Given the description of an element on the screen output the (x, y) to click on. 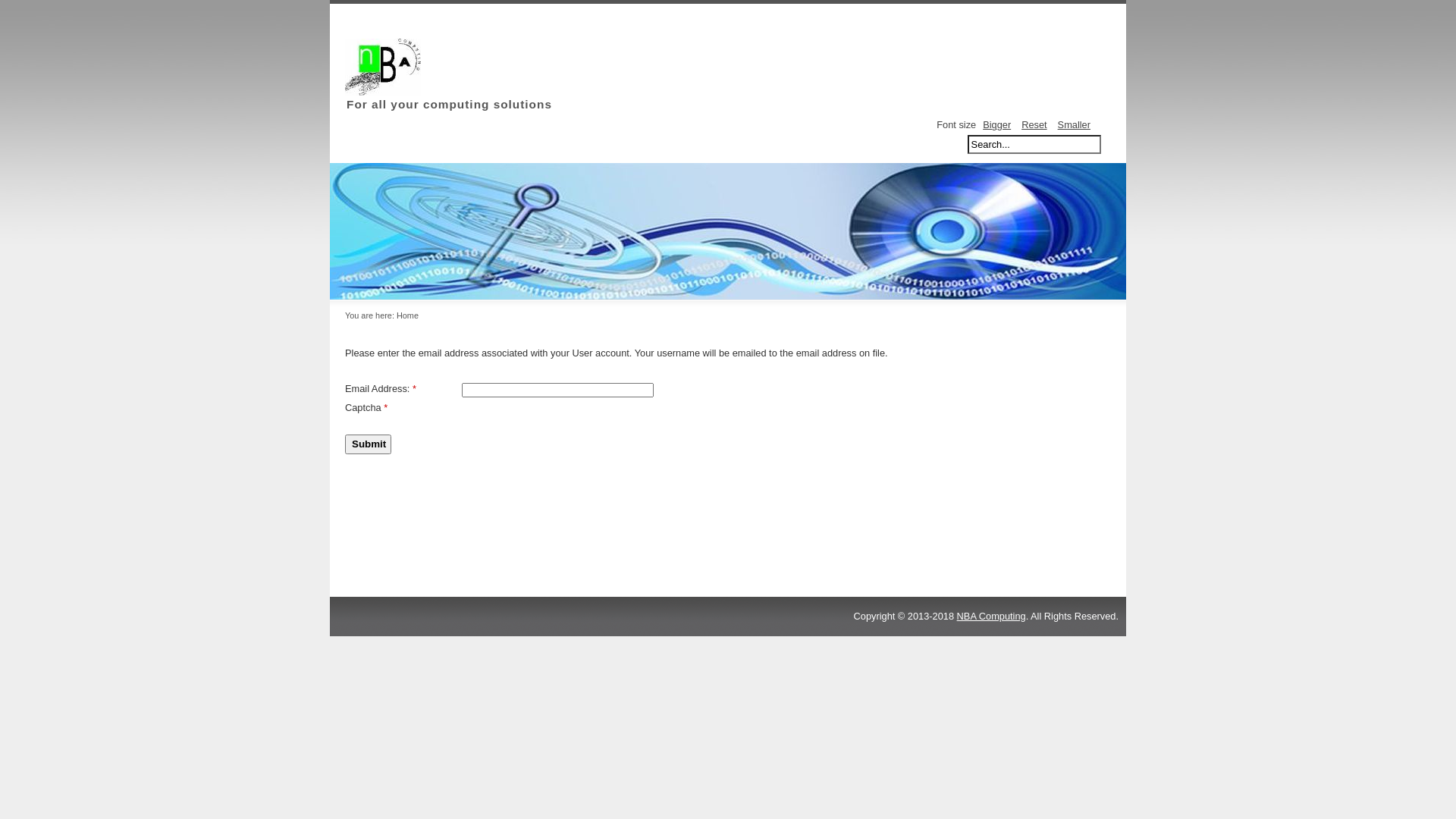
Smaller Element type: text (1074, 124)
Reset Element type: text (1033, 124)
NBA Computing Element type: text (991, 615)
Bigger Element type: text (996, 124)
Submit Element type: text (368, 444)
